Given the description of an element on the screen output the (x, y) to click on. 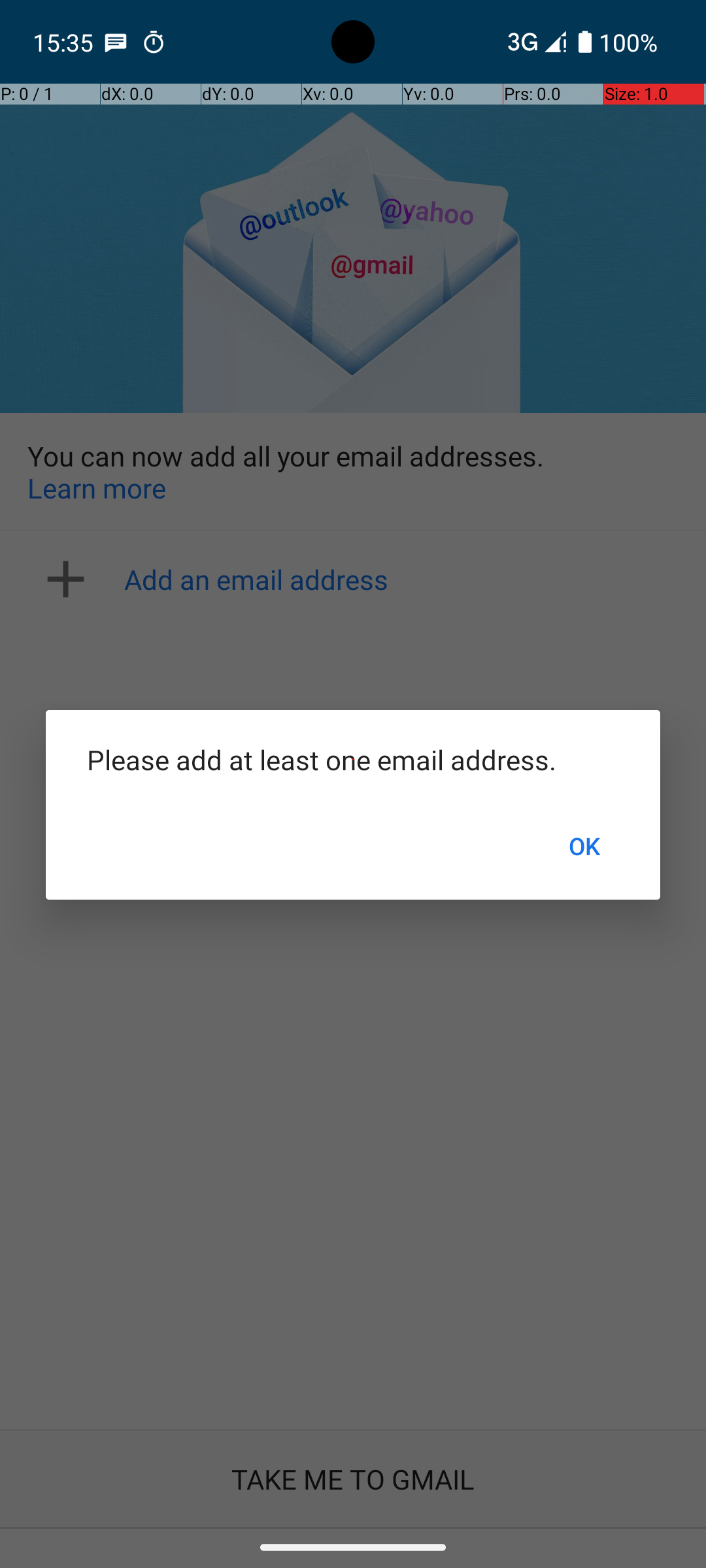
Please add at least one email address. Element type: android.widget.TextView (352, 759)
